Given the description of an element on the screen output the (x, y) to click on. 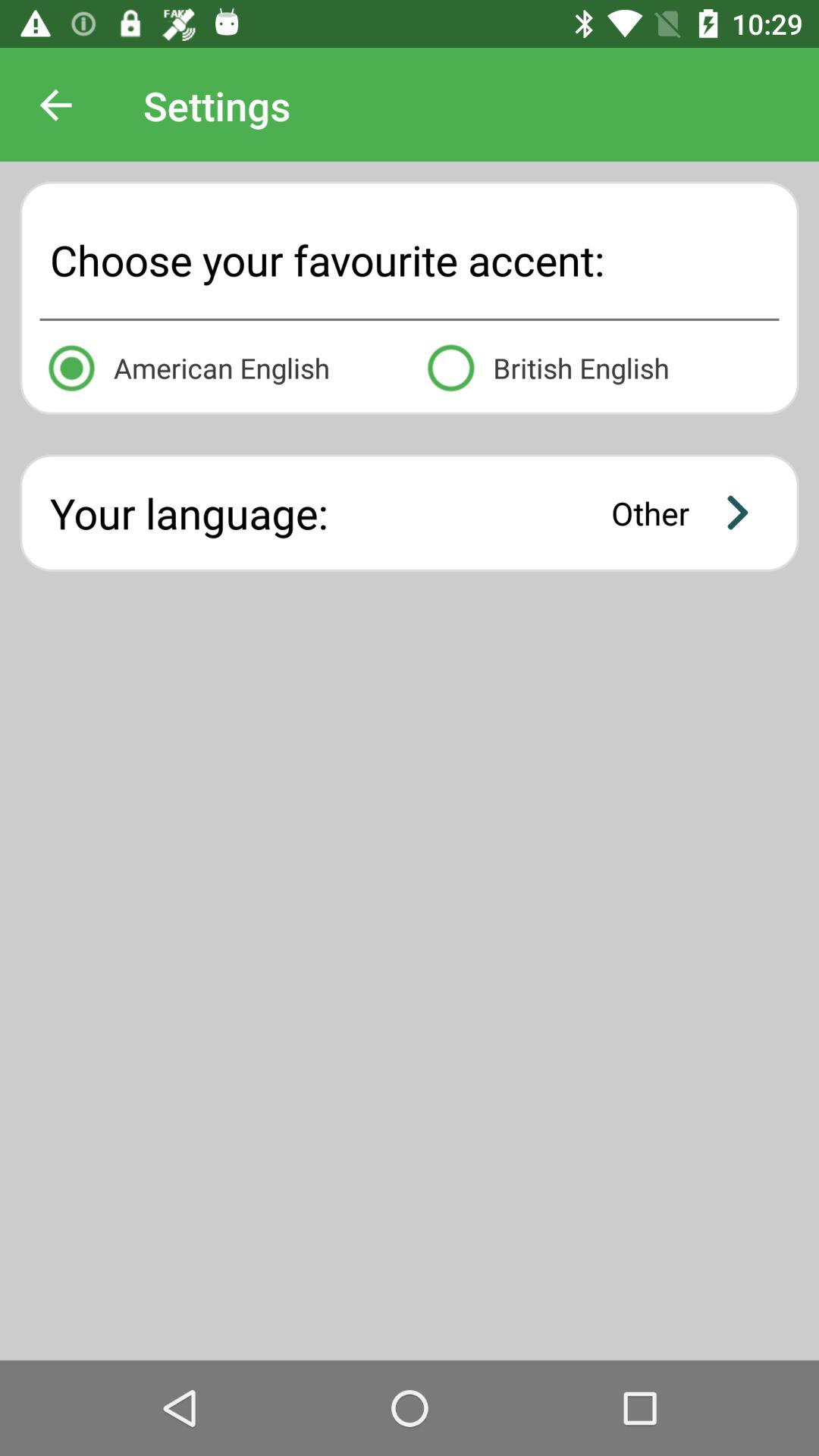
press the icon above choose your favourite icon (55, 105)
